Given the description of an element on the screen output the (x, y) to click on. 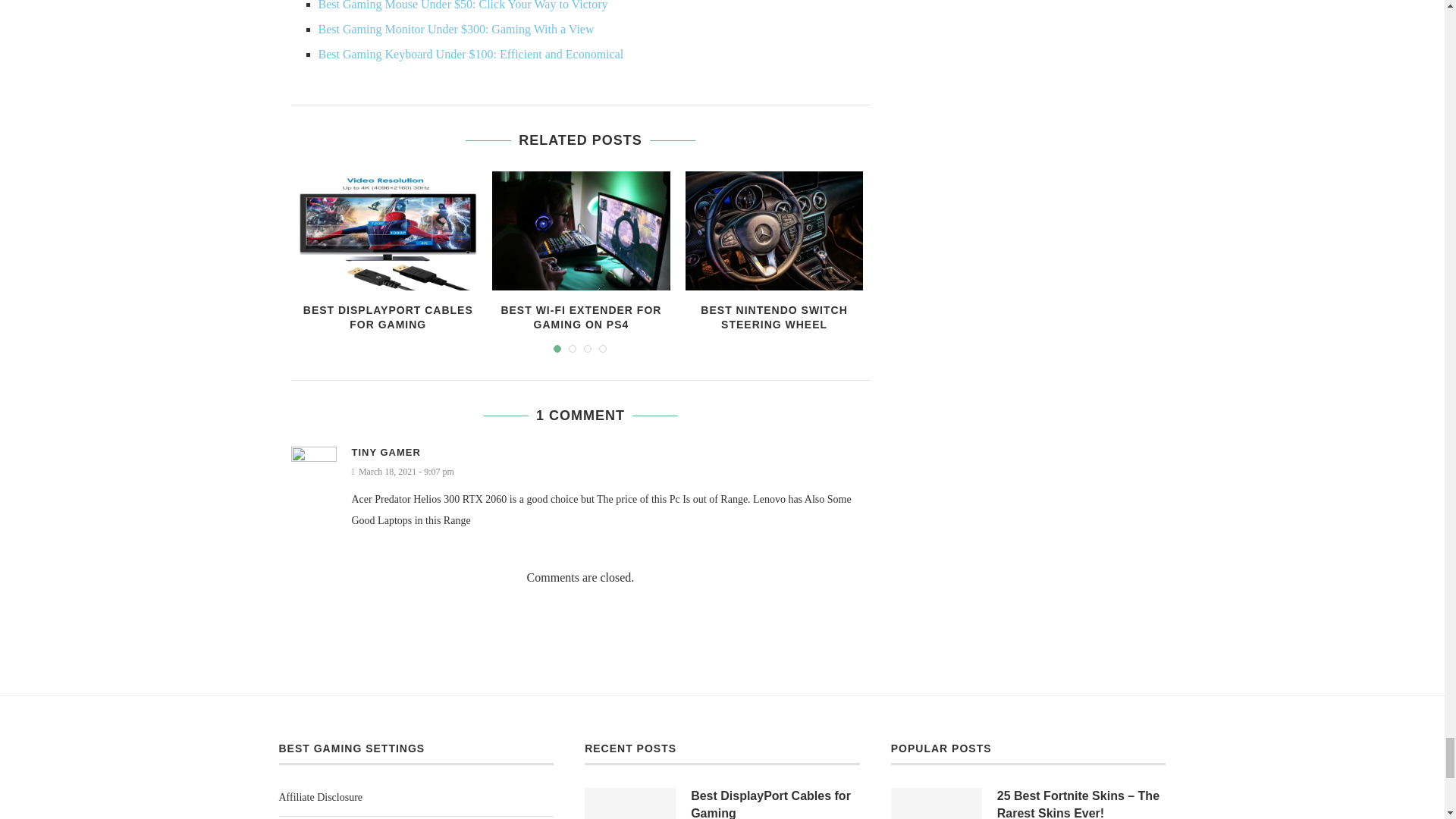
Best Wi-Fi Extender for Gaming on PS4 (580, 230)
Best Nintendo Switch Steering Wheel (774, 230)
Best DisplayPort Cables for Gaming (387, 230)
